Given the description of an element on the screen output the (x, y) to click on. 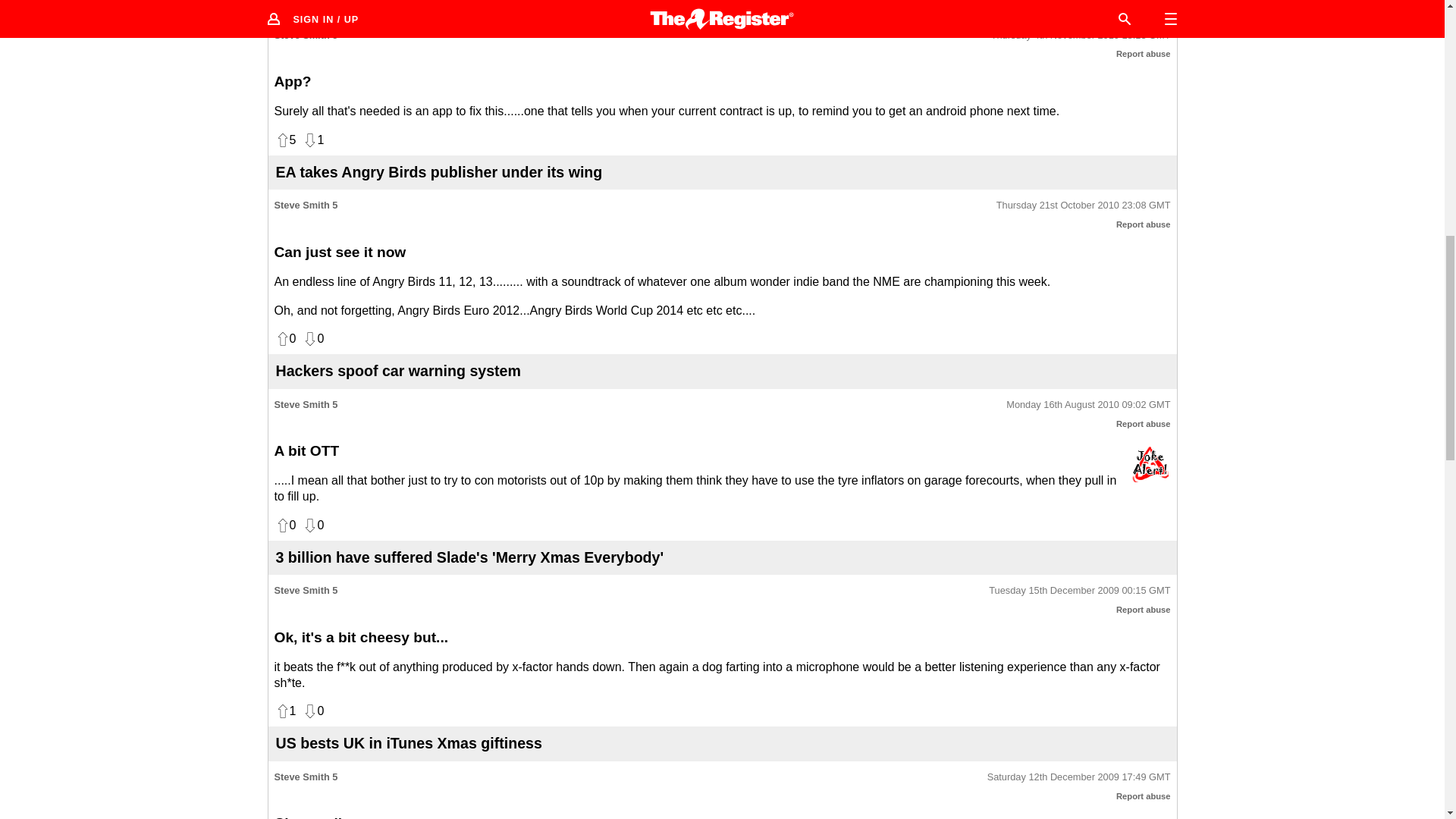
Report abuse (1143, 423)
Report abuse (1143, 224)
Report abuse (1143, 609)
Report abuse (1143, 53)
Report abuse (1143, 795)
